Given the description of an element on the screen output the (x, y) to click on. 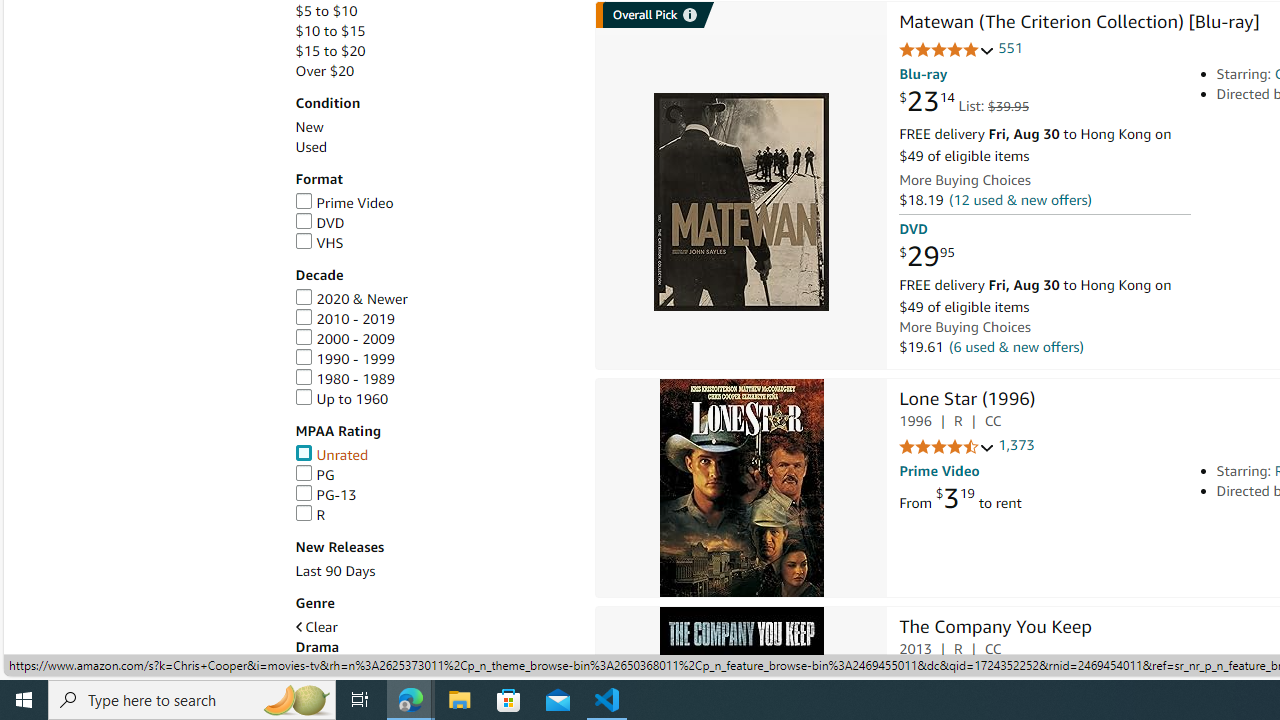
1,861 (1016, 673)
DVD (434, 223)
VHS (319, 242)
PG (434, 475)
Up to 1960 (341, 398)
2000 - 2009 (434, 339)
Matewan (The Criterion Collection) [Blu-ray] (741, 201)
Prime Video (434, 203)
1980 - 1989 (344, 378)
1980 - 1989 (434, 379)
4.8 out of 5 stars (946, 50)
Up to 1960 (434, 399)
$5 to $10 (434, 11)
Unrated (331, 454)
2020 & Newer (434, 299)
